Given the description of an element on the screen output the (x, y) to click on. 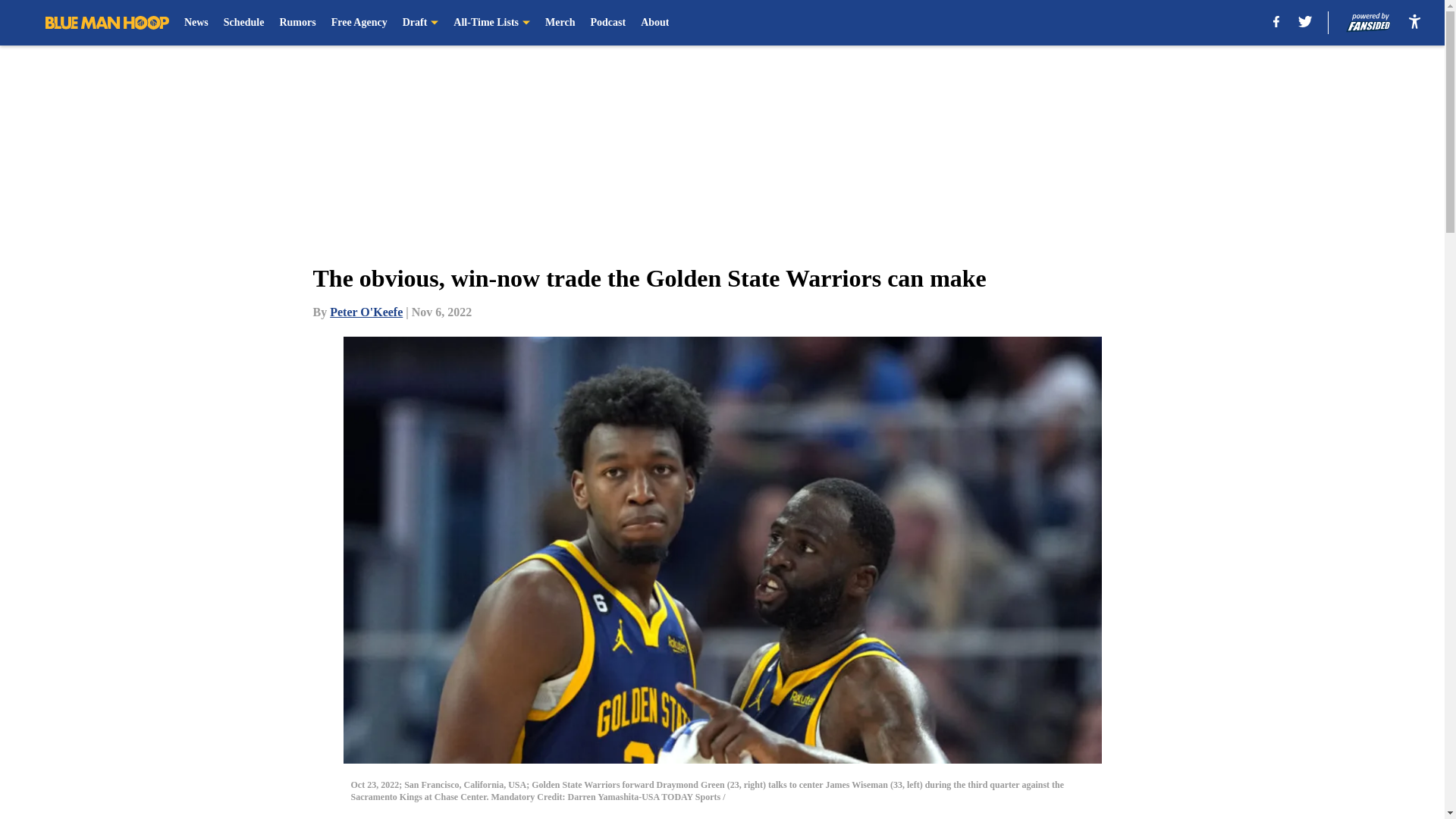
Podcast (607, 22)
All-Time Lists (490, 22)
Peter O'Keefe (366, 311)
Free Agency (359, 22)
Rumors (297, 22)
Merch (559, 22)
Schedule (244, 22)
Draft (421, 22)
News (196, 22)
About (654, 22)
